Given the description of an element on the screen output the (x, y) to click on. 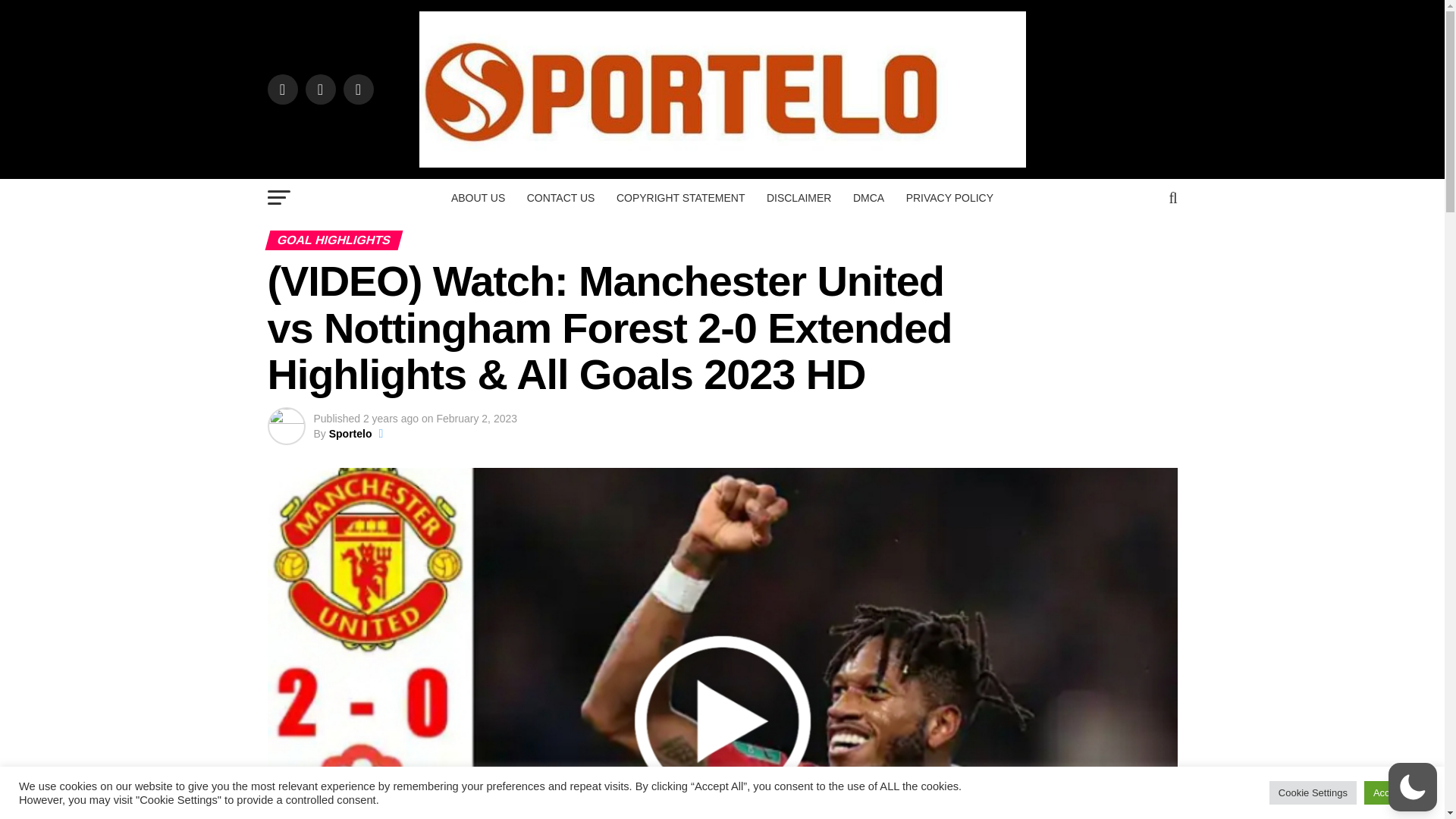
DISCLAIMER (799, 198)
CONTACT US (561, 198)
COPYRIGHT STATEMENT (680, 198)
DMCA (868, 198)
PRIVACY POLICY (949, 198)
Posts by Sportelo (350, 433)
Sportelo (350, 433)
ABOUT US (477, 198)
